Given the description of an element on the screen output the (x, y) to click on. 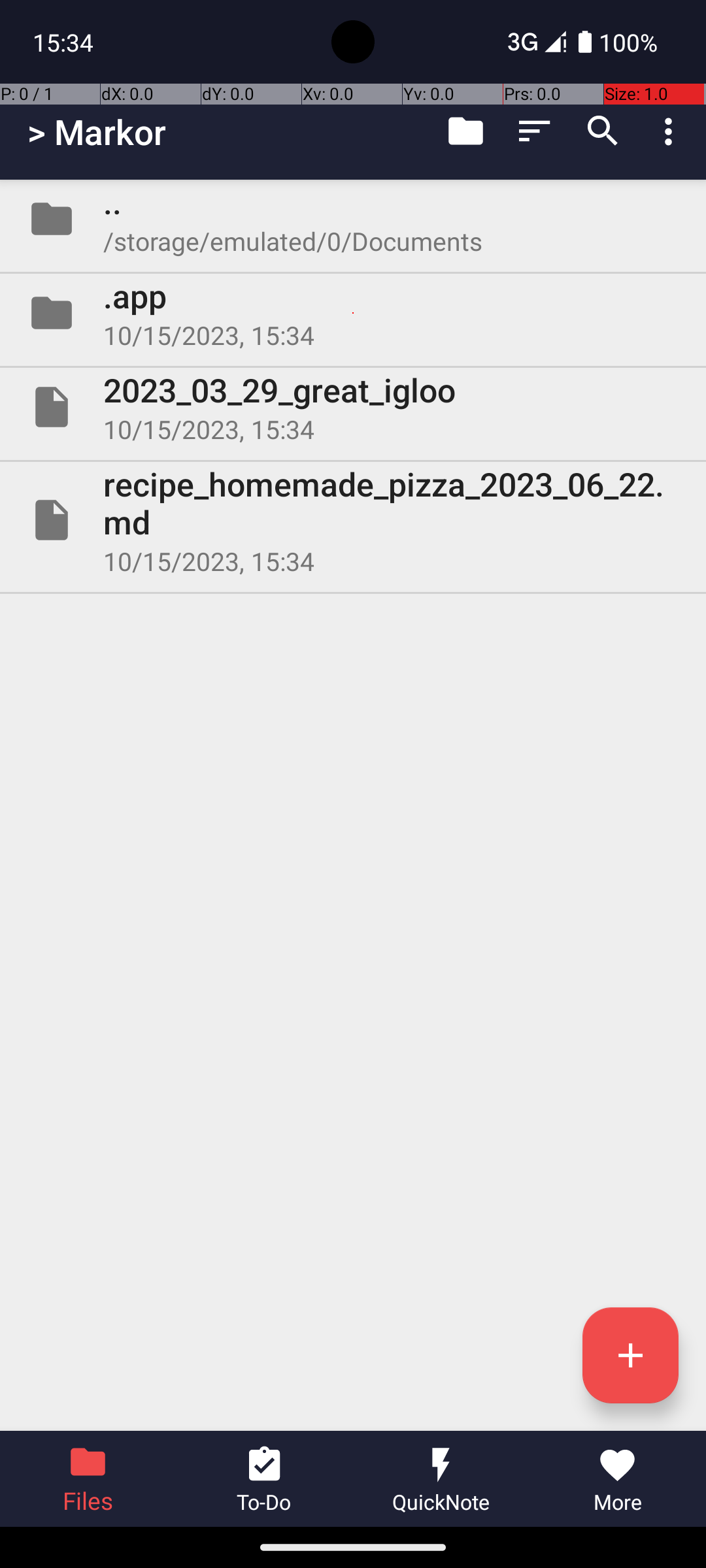
> Markor Element type: android.widget.TextView (96, 131)
Folder .. /storage/emulated/0 Element type: android.widget.LinearLayout (353, 218)
Folder .app 10/15/2023, 15:34 Element type: android.widget.LinearLayout (353, 312)
File 2023_03_29_great_igloo 10/15/2023, 15:34 Element type: android.widget.LinearLayout (353, 406)
File recipe_homemade_pizza_2023_06_22.md  Element type: android.widget.LinearLayout (353, 519)
